Given the description of an element on the screen output the (x, y) to click on. 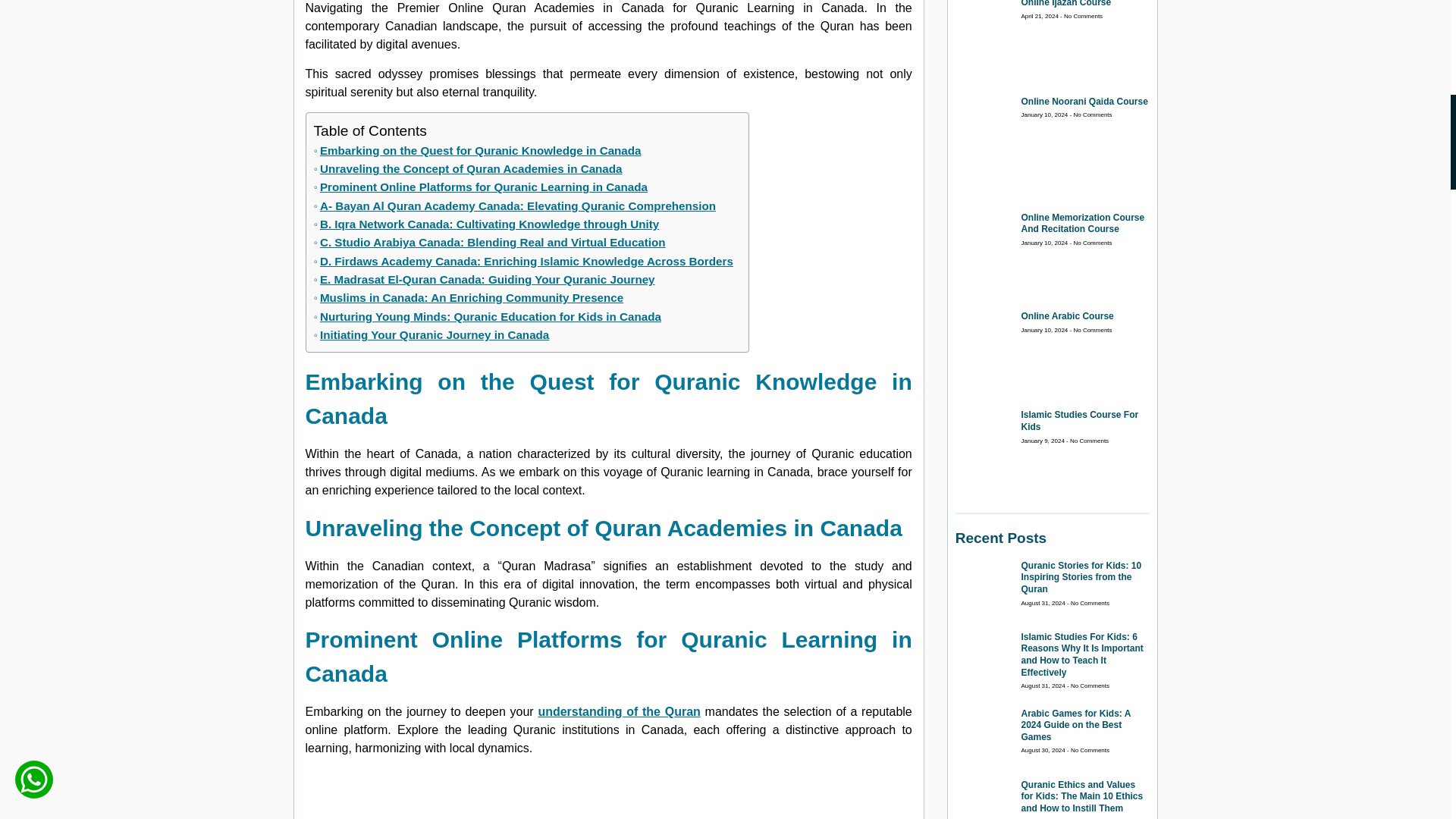
Nurturing Young Minds: Quranic Education for Kids in Canada (487, 316)
Initiating Your Quranic Journey in Canada (432, 334)
B. Iqra Network Canada: Cultivating Knowledge through Unity (486, 224)
Muslims in Canada: An Enriching Community Presence (469, 298)
Unraveling the Concept of Quran Academies in Canada (468, 168)
Prominent Online Platforms for Quranic Learning in Canada (480, 187)
E. Madrasat El-Quran Canada: Guiding Your Quranic Journey (484, 280)
